Given the description of an element on the screen output the (x, y) to click on. 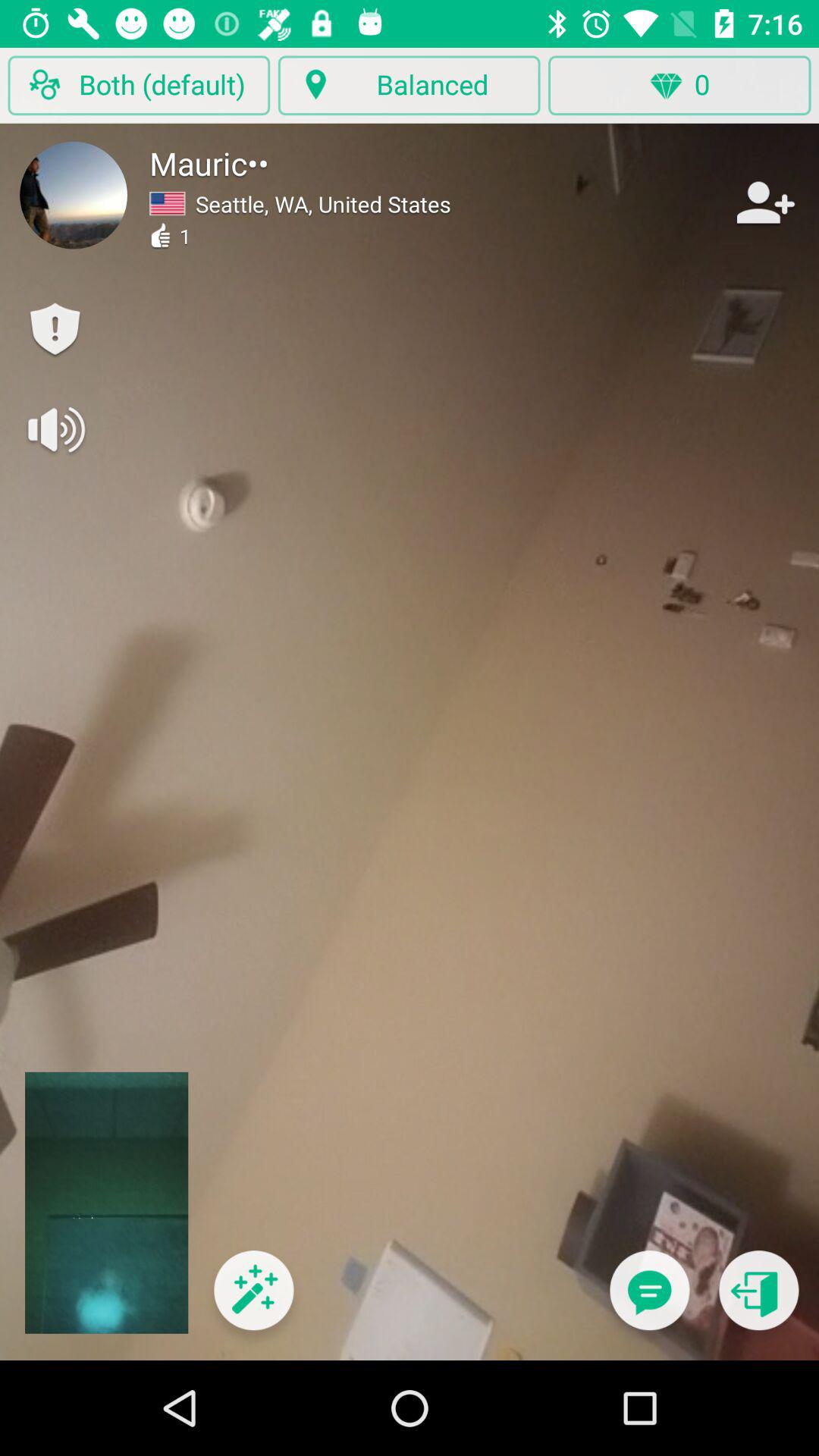
comment (649, 1300)
